Given the description of an element on the screen output the (x, y) to click on. 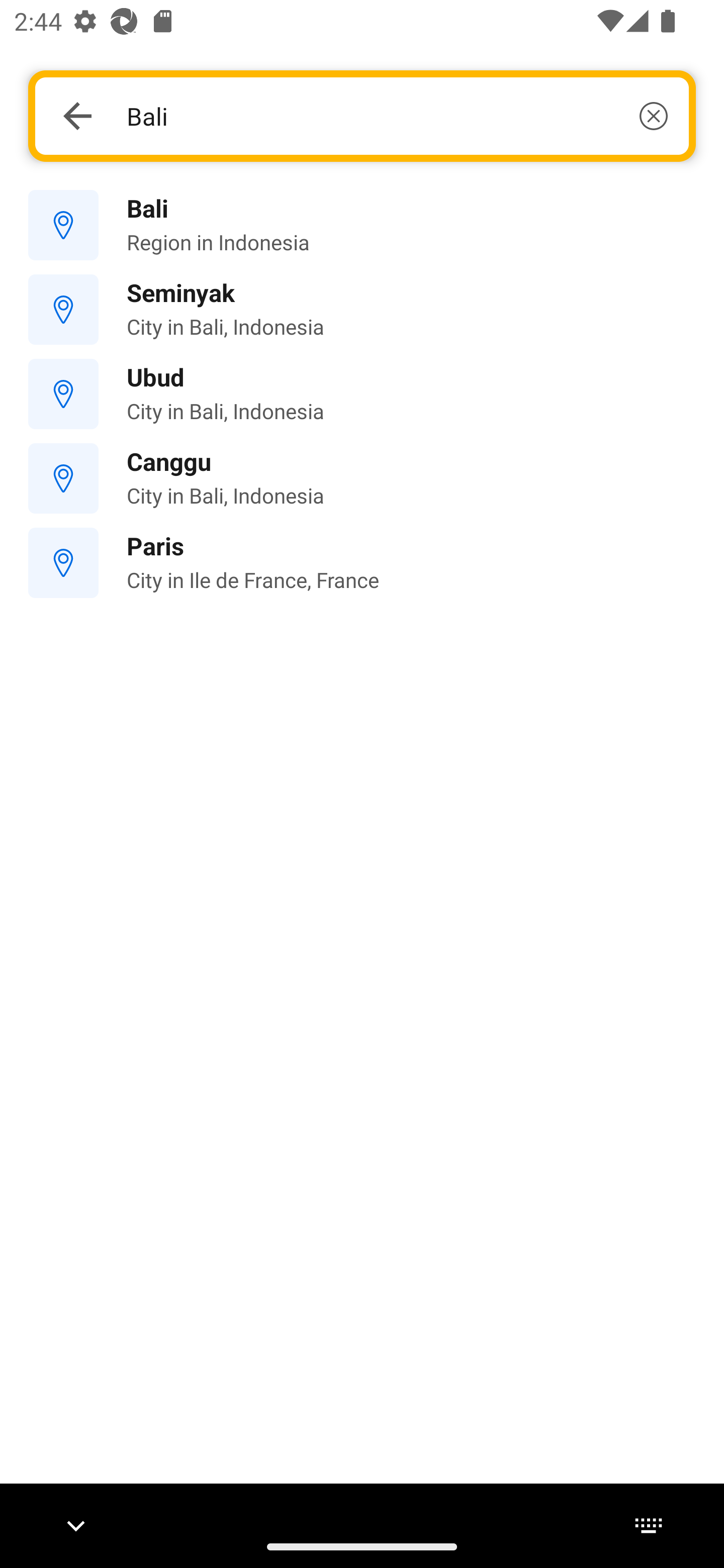
Bali (396, 115)
Bali Region in Indonesia (362, 225)
Seminyak City in Bali, Indonesia (362, 309)
Ubud City in Bali, Indonesia (362, 393)
Canggu City in Bali, Indonesia (362, 477)
Paris City in Ile de France, France (362, 562)
